Given the description of an element on the screen output the (x, y) to click on. 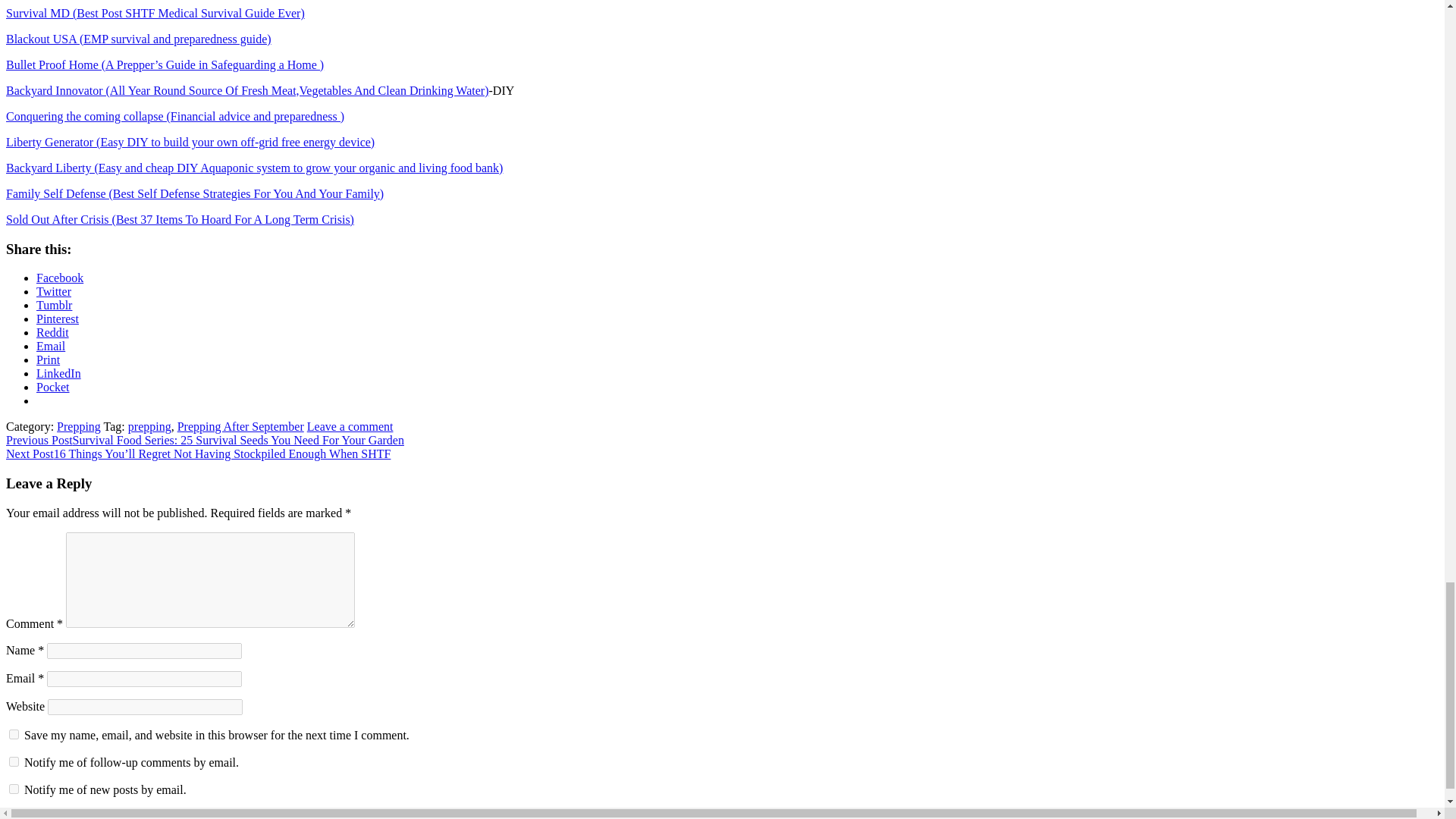
subscribe (13, 788)
yes (13, 734)
subscribe (13, 761)
